Given the description of an element on the screen output the (x, y) to click on. 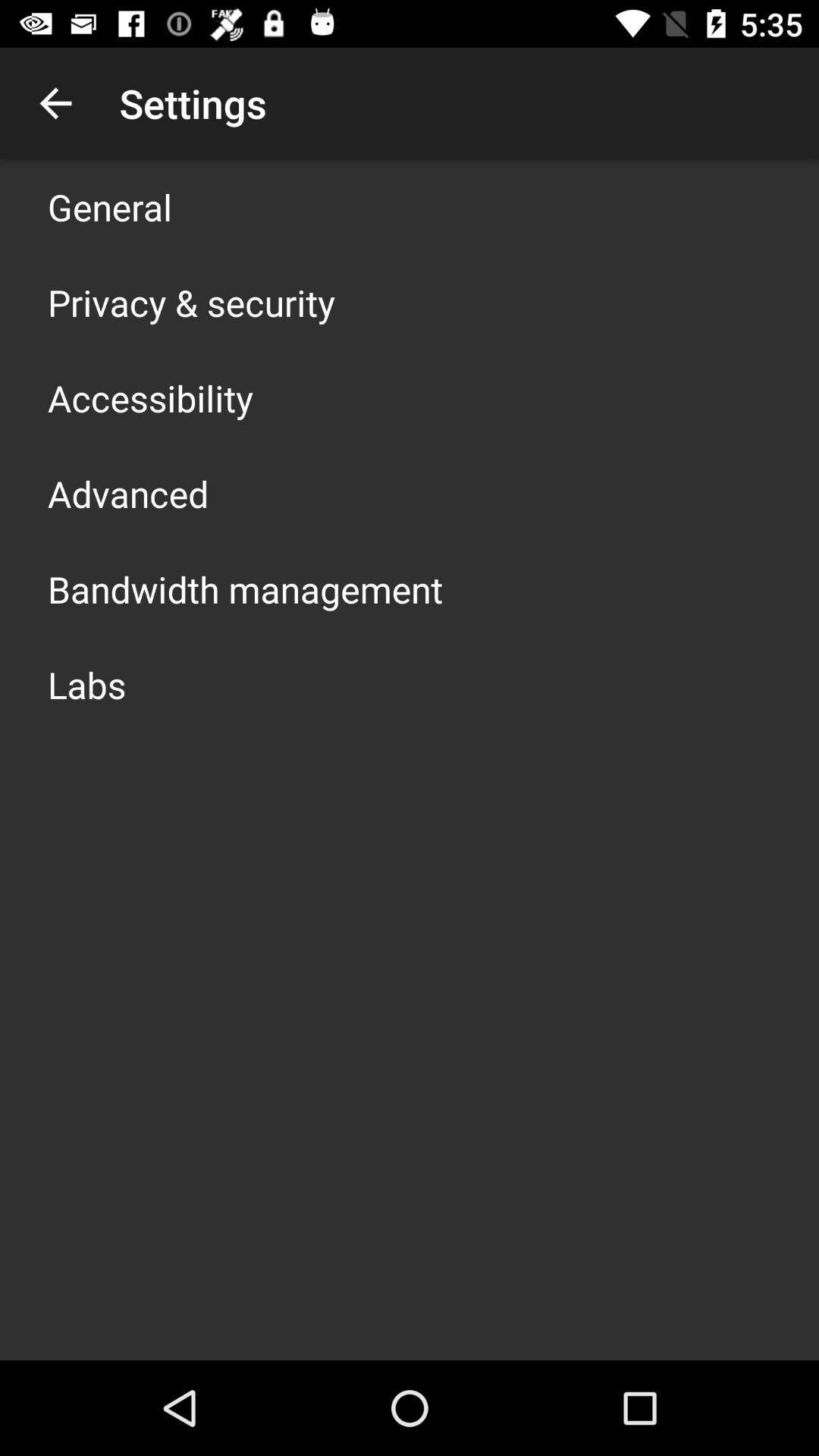
choose the icon above advanced (150, 397)
